Given the description of an element on the screen output the (x, y) to click on. 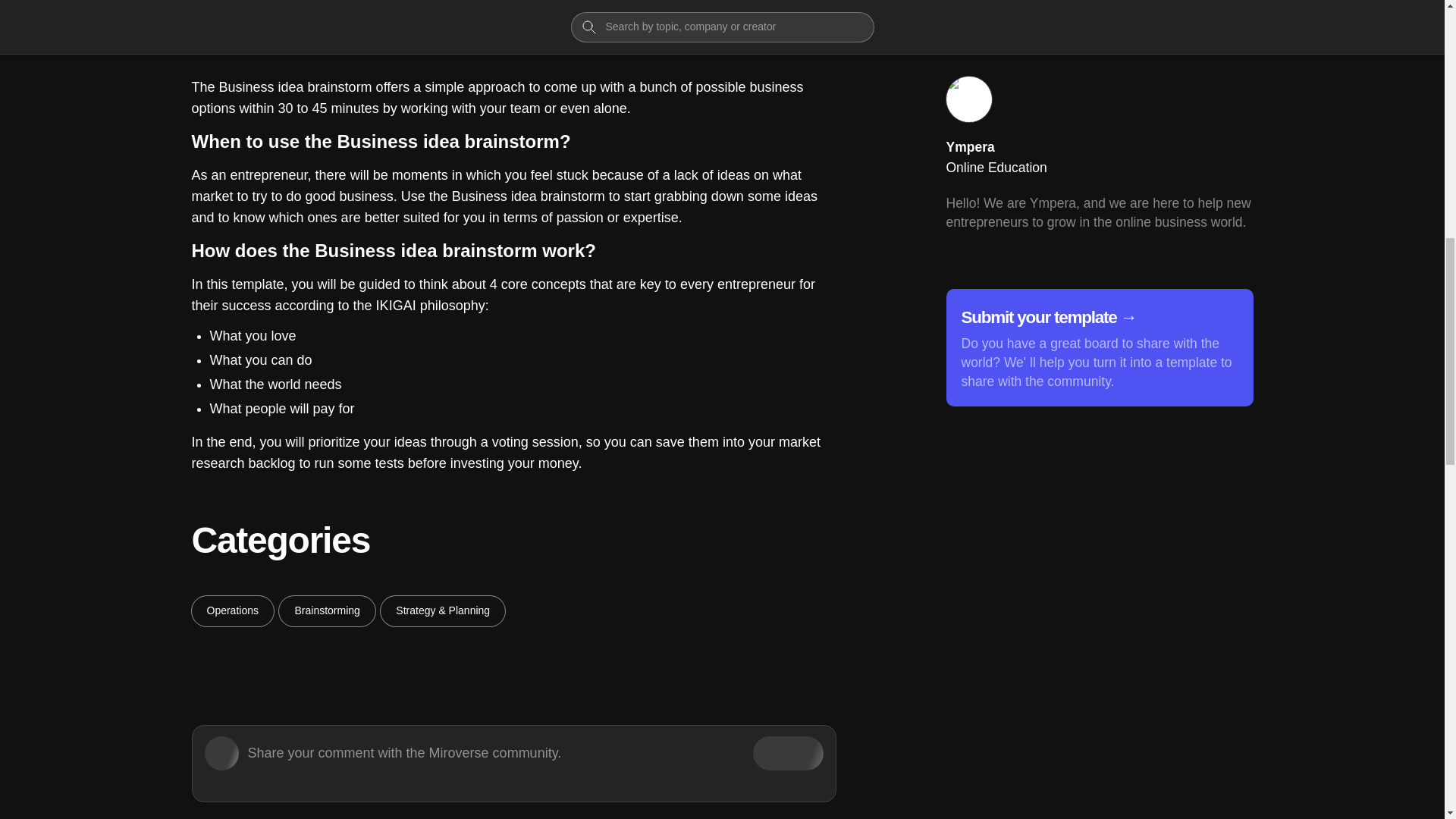
Report (1214, 26)
Operations (231, 611)
Ympera (970, 146)
Brainstorming (326, 611)
